Given the description of an element on the screen output the (x, y) to click on. 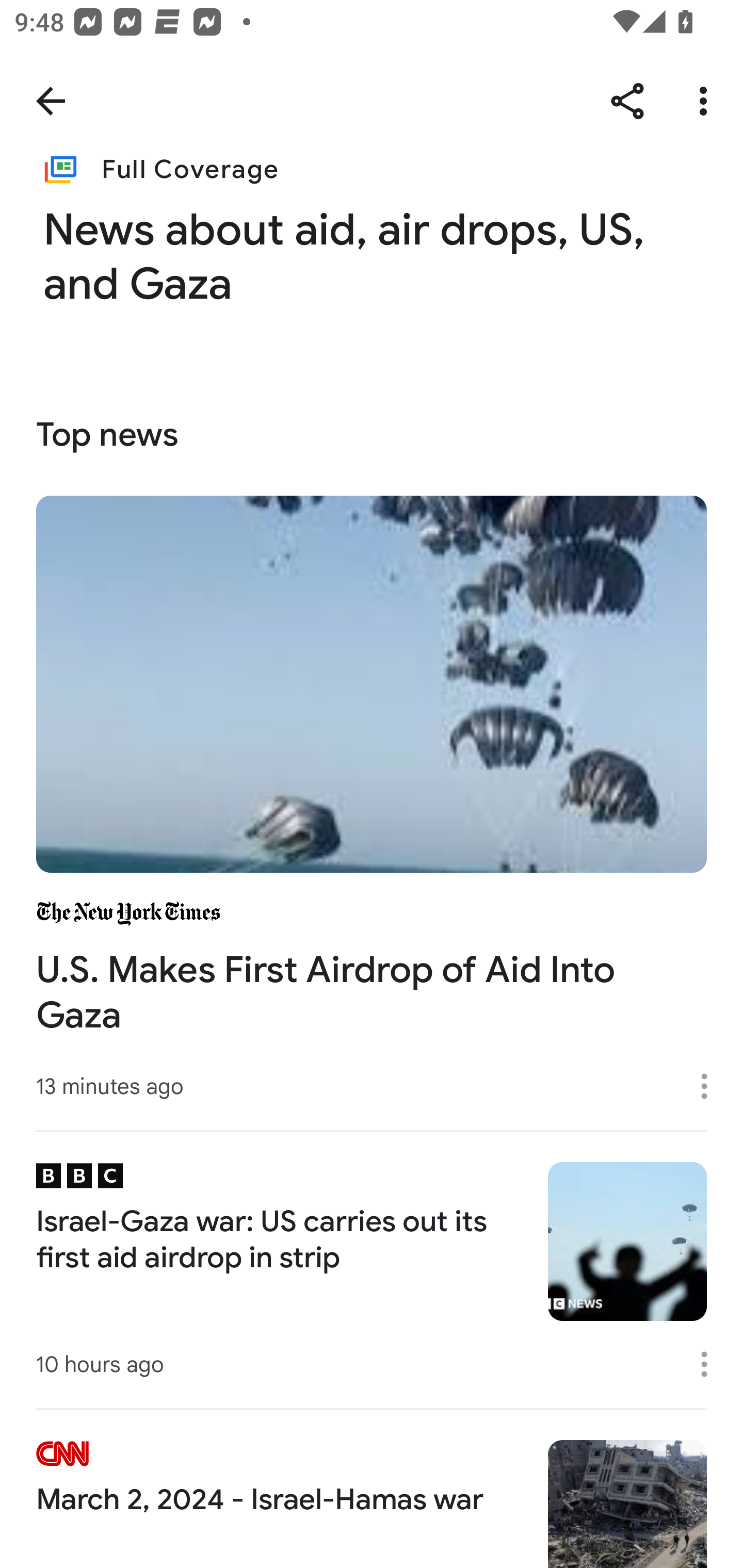
Navigate up (50, 101)
Share (626, 101)
More options (706, 101)
More options (711, 1085)
More options (711, 1364)
CNN March 2, 2024 - Israel-Hamas war (371, 1488)
